Given the description of an element on the screen output the (x, y) to click on. 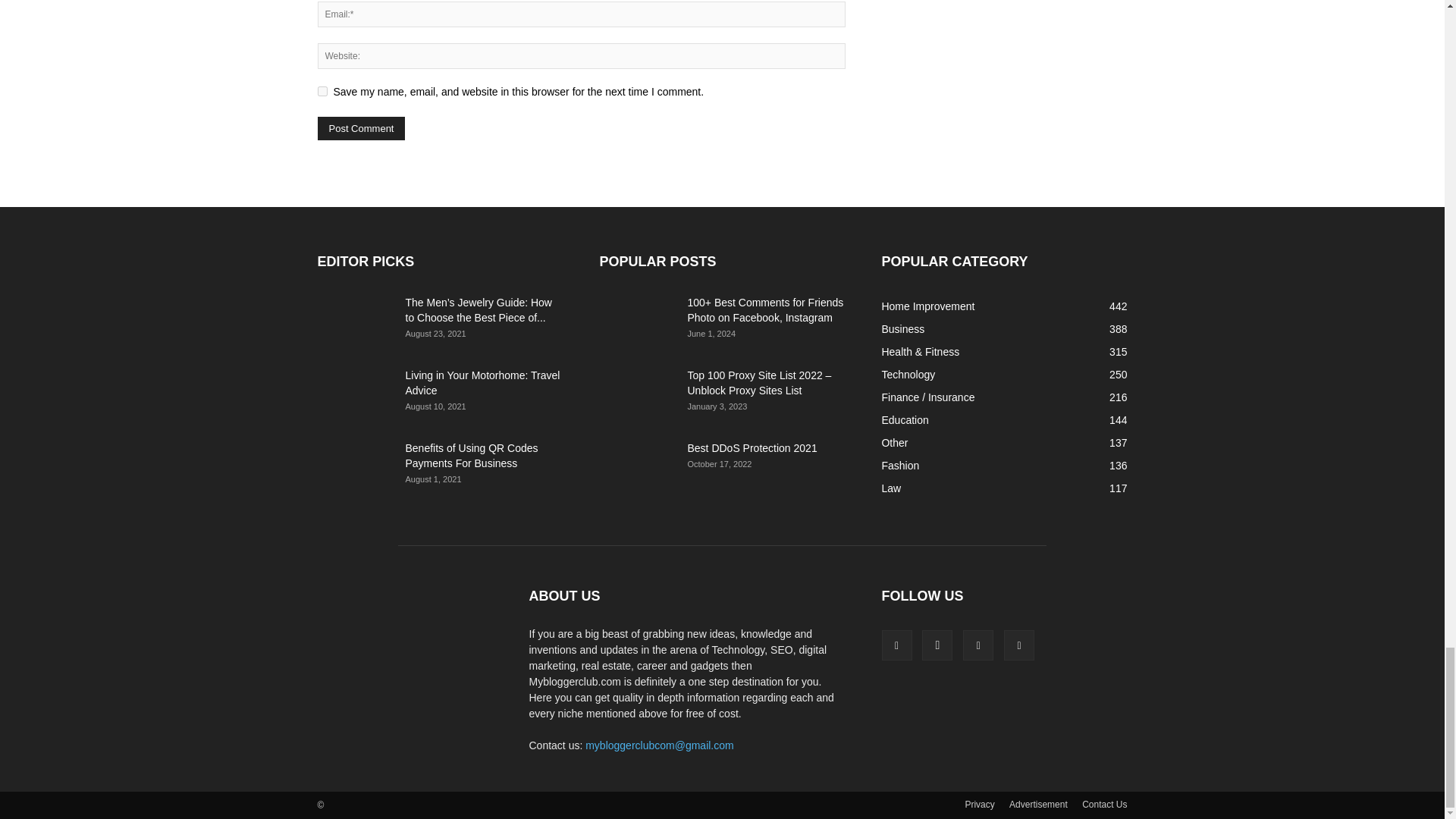
yes (321, 91)
Post Comment (360, 128)
